Given the description of an element on the screen output the (x, y) to click on. 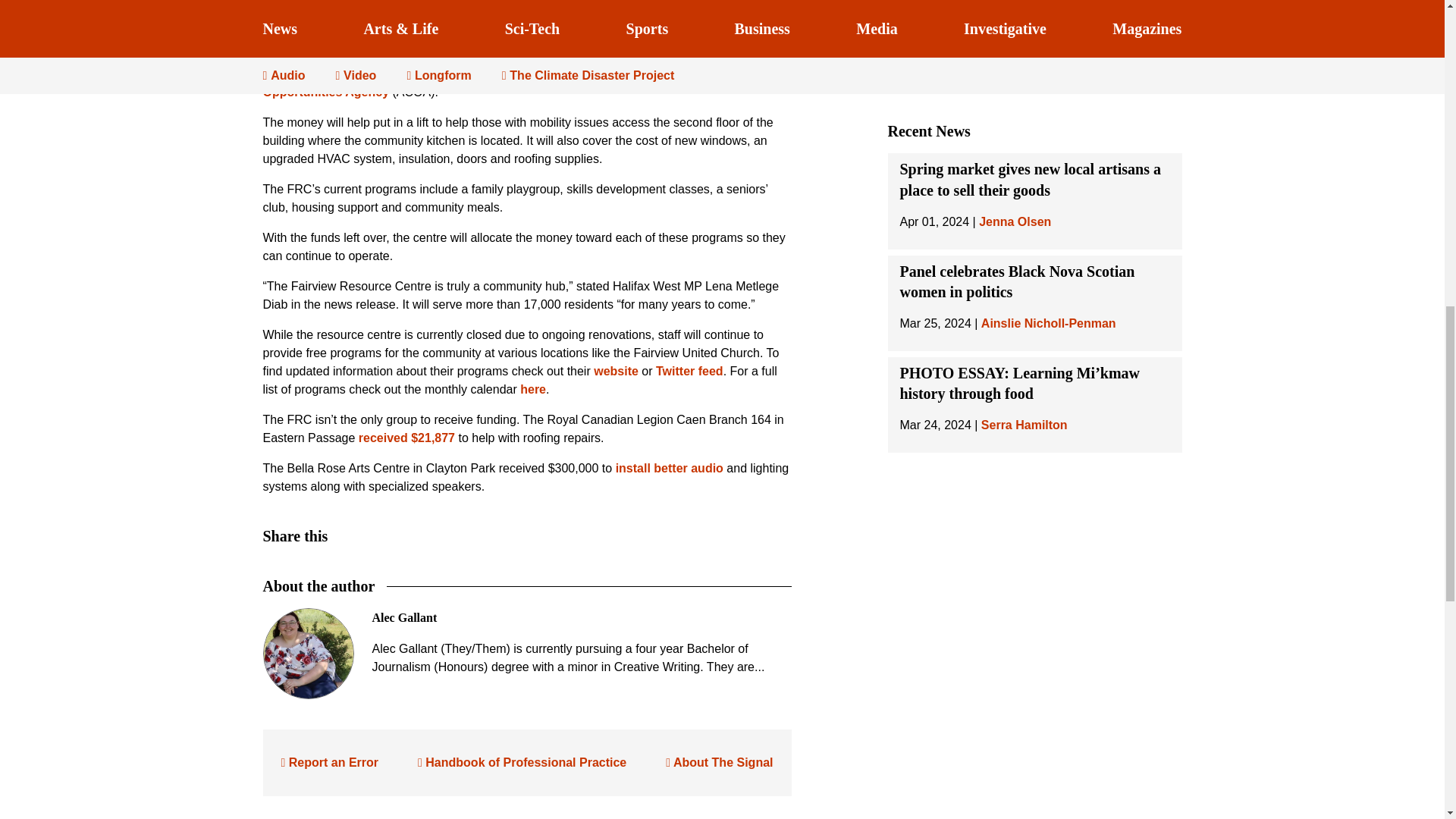
Atlantic Canada Opportunities Agency (522, 82)
website (616, 370)
Alec Gallant (403, 617)
here (532, 389)
Twitter feed (689, 370)
install better audio (669, 468)
